Given the description of an element on the screen output the (x, y) to click on. 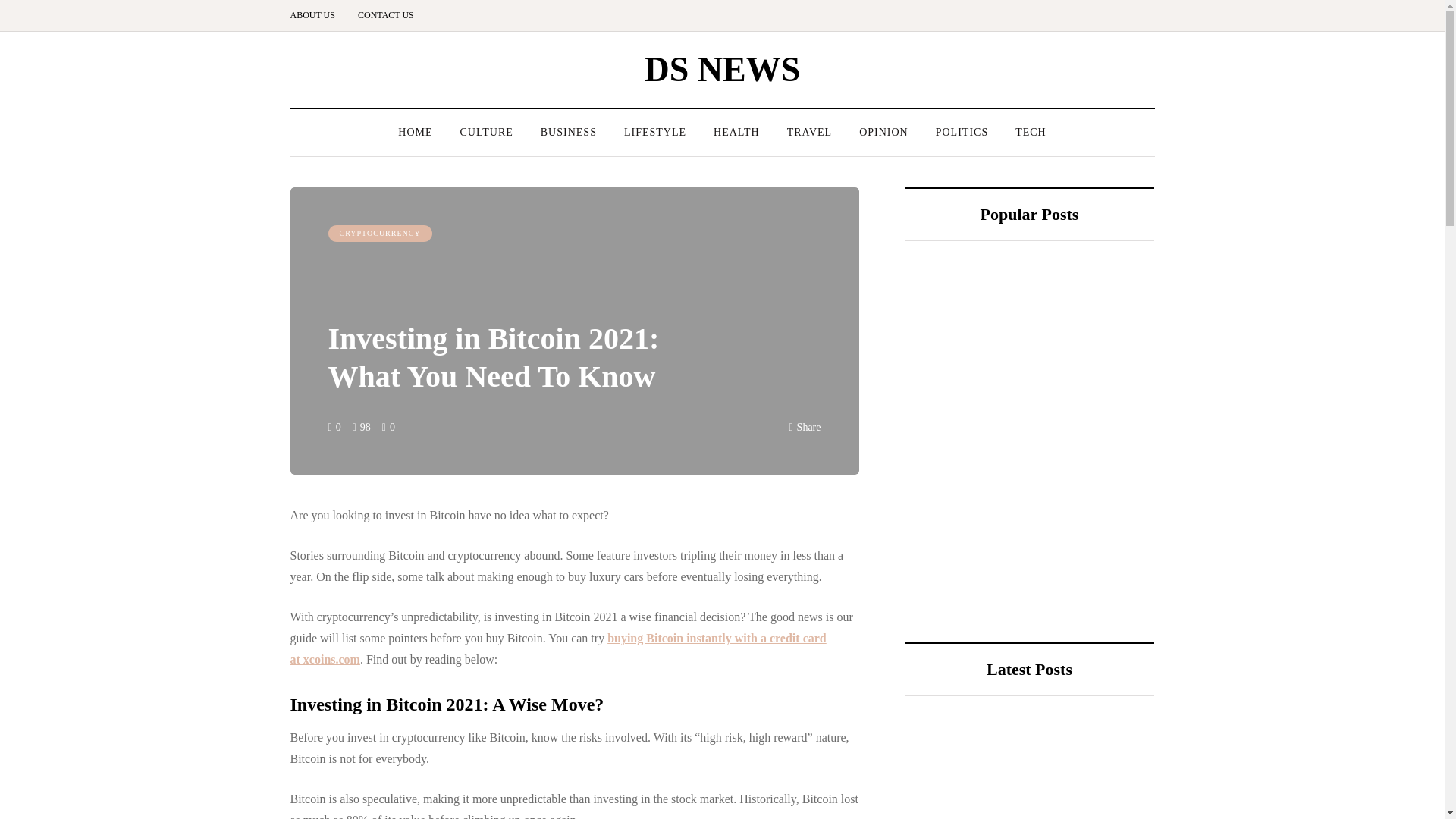
TRAVEL (809, 132)
buying Bitcoin instantly with a credit card at xcoins.com (557, 648)
CULTURE (485, 132)
POLITICS (961, 132)
LIFESTYLE (655, 132)
BUSINESS (568, 132)
CONTACT US (385, 15)
HOME (414, 132)
DS NEWS (722, 68)
CRYPTOCURRENCY (378, 233)
ABOUT US (317, 15)
TECH (1030, 132)
HEALTH (736, 132)
OPINION (883, 132)
